Given the description of an element on the screen output the (x, y) to click on. 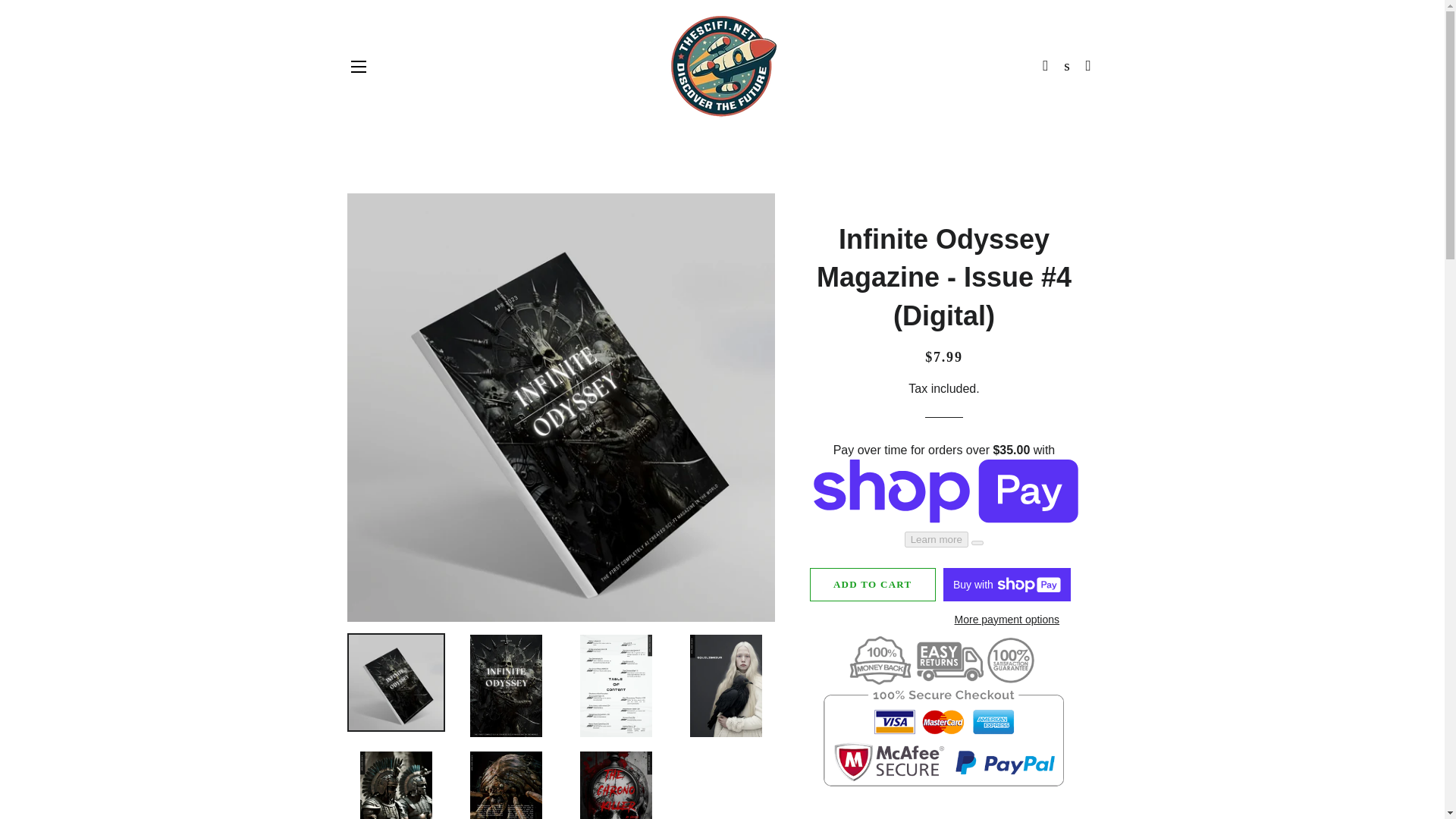
SITE NAVIGATION (358, 66)
